Given the description of an element on the screen output the (x, y) to click on. 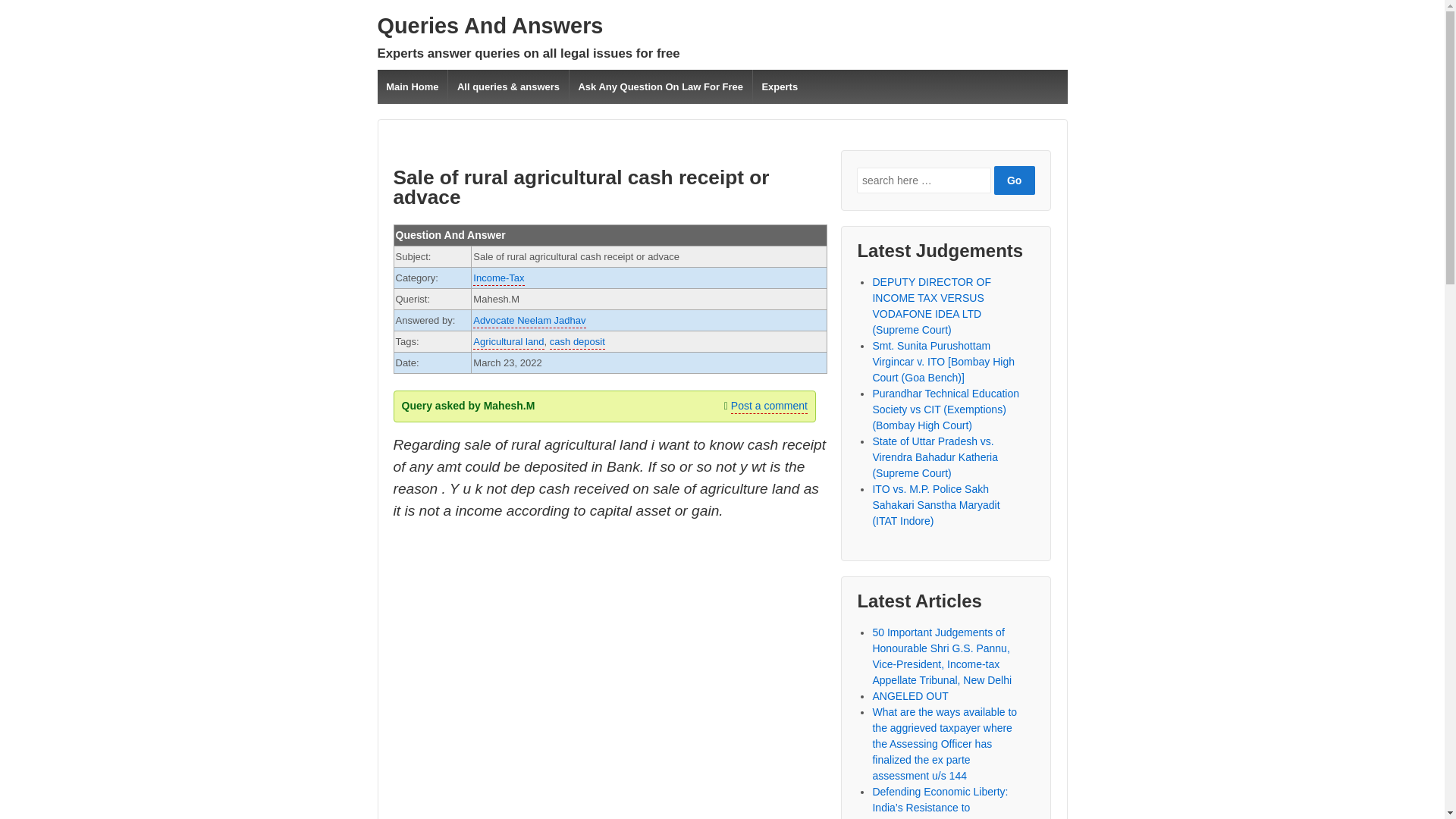
Queries And Answers (490, 25)
Main Home (412, 86)
Ask your questions, experts will answer (490, 25)
Go (1014, 180)
Go (1014, 180)
Advocate Neelam Jadhav (529, 321)
Post a comment (769, 406)
ANGELED OUT (909, 695)
Income-Tax (498, 278)
cash deposit (577, 342)
Ask Any Question On Law For Free (660, 86)
Agricultural land (508, 342)
Experts (779, 86)
